Given the description of an element on the screen output the (x, y) to click on. 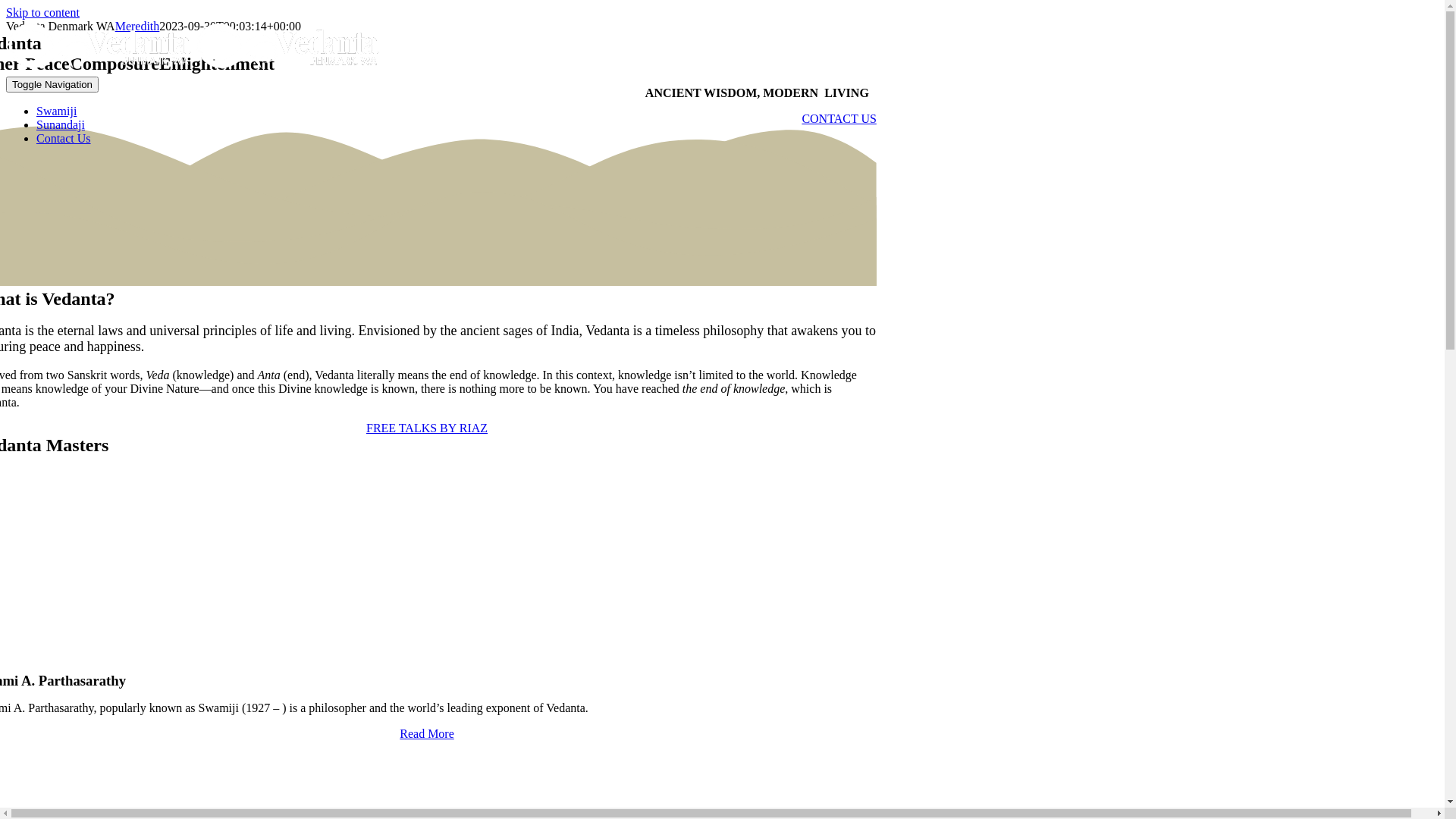
Read More Element type: text (426, 733)
Swamiji Element type: text (56, 110)
Sunandaji Element type: text (60, 124)
Meredith Element type: text (137, 25)
Toggle Navigation Element type: text (52, 84)
FREE TALKS BY RIAZ Element type: text (426, 427)
Contact Us Element type: text (63, 137)
Swa Element type: hover (426, 562)
Skip to content Element type: text (42, 12)
CONTACT US Element type: text (838, 118)
